Given the description of an element on the screen output the (x, y) to click on. 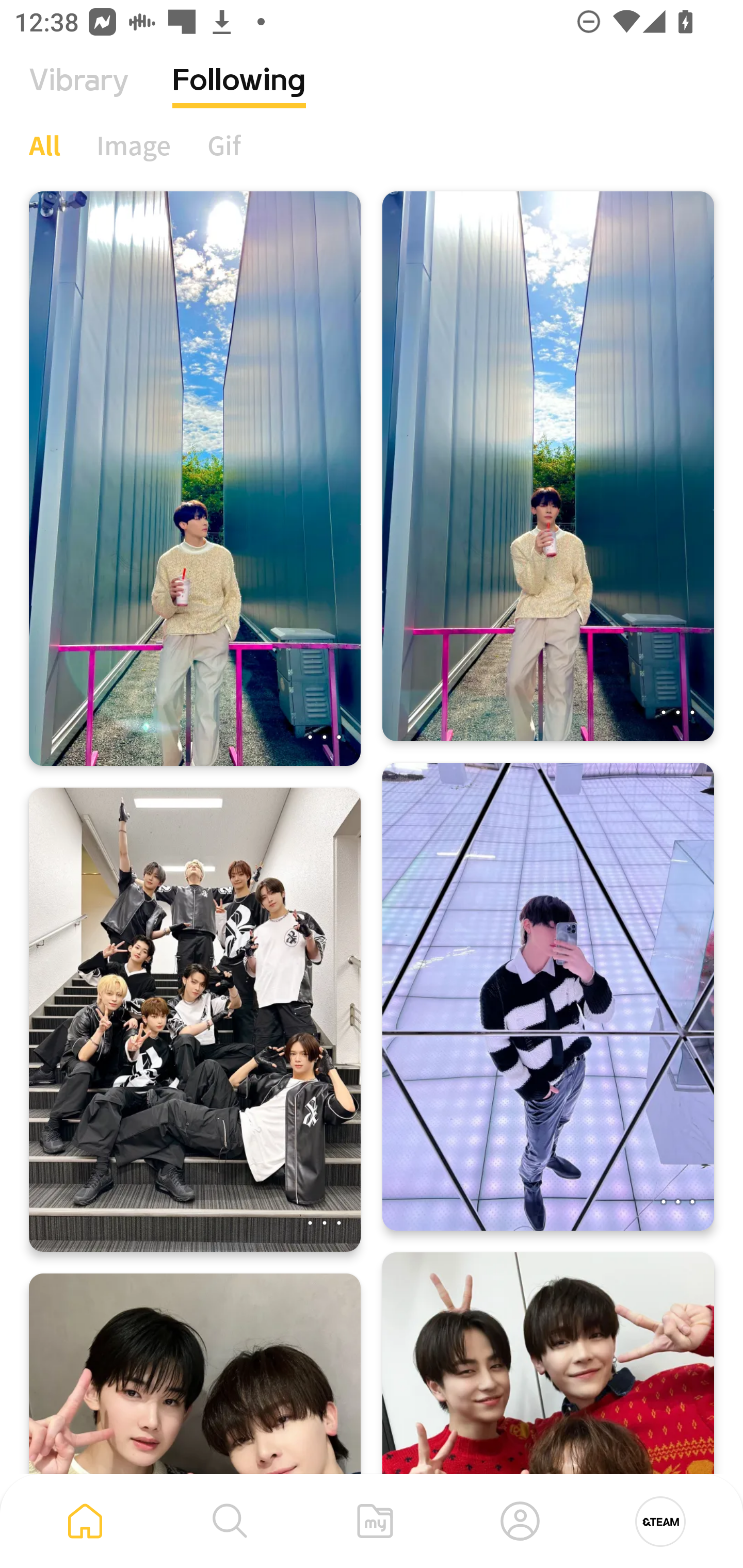
Vibrary (78, 95)
Following (239, 95)
All (44, 145)
Image (133, 145)
Gif (223, 145)
